Given the description of an element on the screen output the (x, y) to click on. 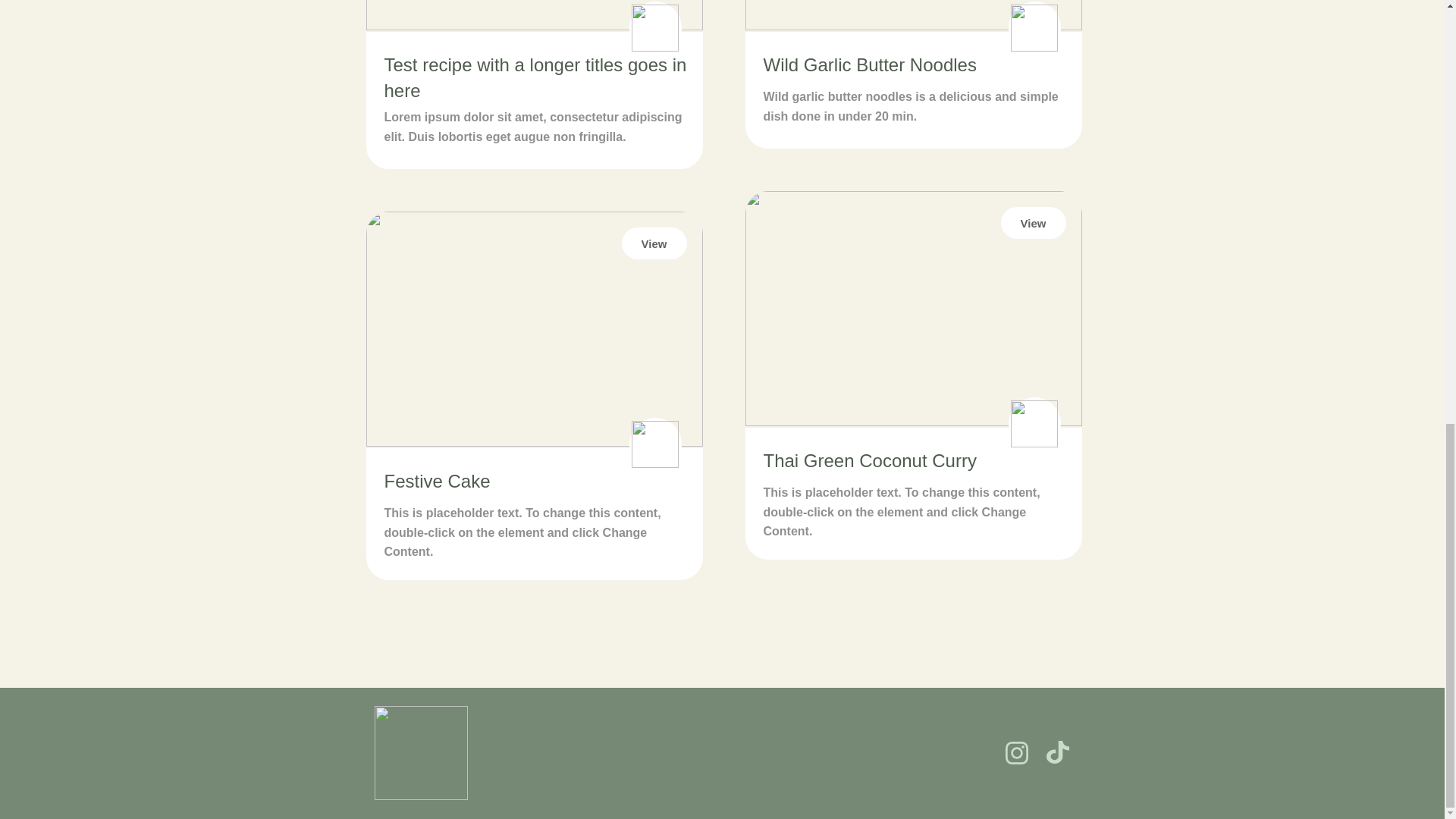
View (1033, 223)
77213DD2-39E1-4C50-9596-EAE1699592AA.png (912, 15)
1.png (912, 307)
spoons 2.png (654, 443)
spoons 0.png (654, 27)
spoons 1.png (1033, 27)
spoons 3.png (1033, 423)
Mousse Cake.jpg (533, 328)
View (654, 243)
